Given the description of an element on the screen output the (x, y) to click on. 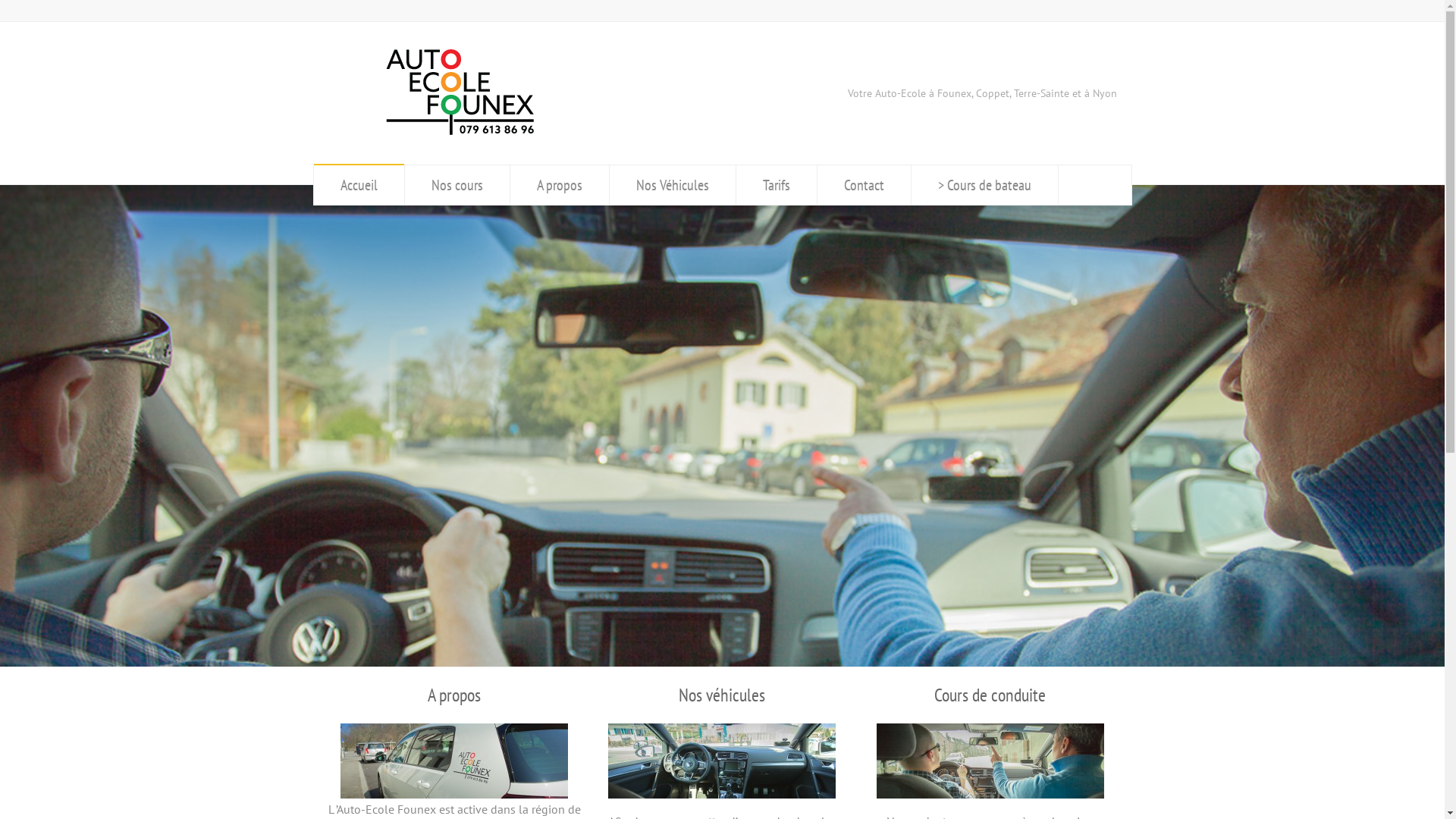
A propos Element type: text (559, 184)
A propos Element type: text (453, 694)
Tarifs Element type: text (776, 184)
Contact Element type: text (863, 184)
Nos cours Element type: text (456, 184)
> Cours de bateau Element type: text (984, 184)
Accueil Element type: text (358, 184)
Cours de conduite Element type: text (989, 694)
